Given the description of an element on the screen output the (x, y) to click on. 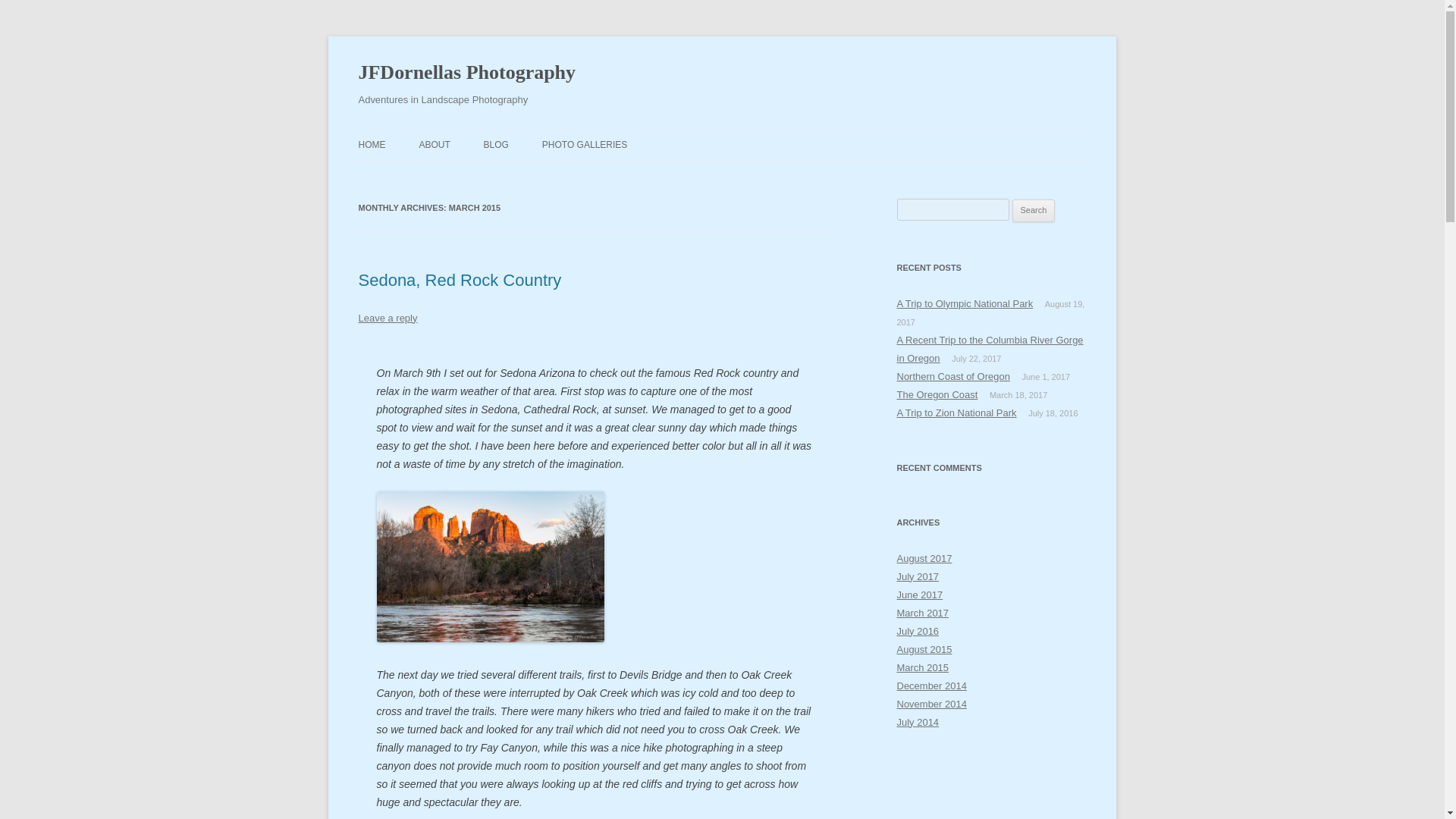
Northern Coast of Oregon (952, 376)
Search (1033, 210)
August 2017 (924, 558)
JFDornellas Photography (466, 72)
Sedona, Red Rock Country (459, 280)
Leave a reply (387, 317)
July 2017 (917, 576)
June 2017 (919, 594)
Search (1033, 210)
PHOTO GALLERIES (584, 144)
ABOUT (434, 144)
A Trip to Zion National Park (956, 412)
A Trip to Olympic National Park (964, 303)
March 2017 (922, 613)
